Given the description of an element on the screen output the (x, y) to click on. 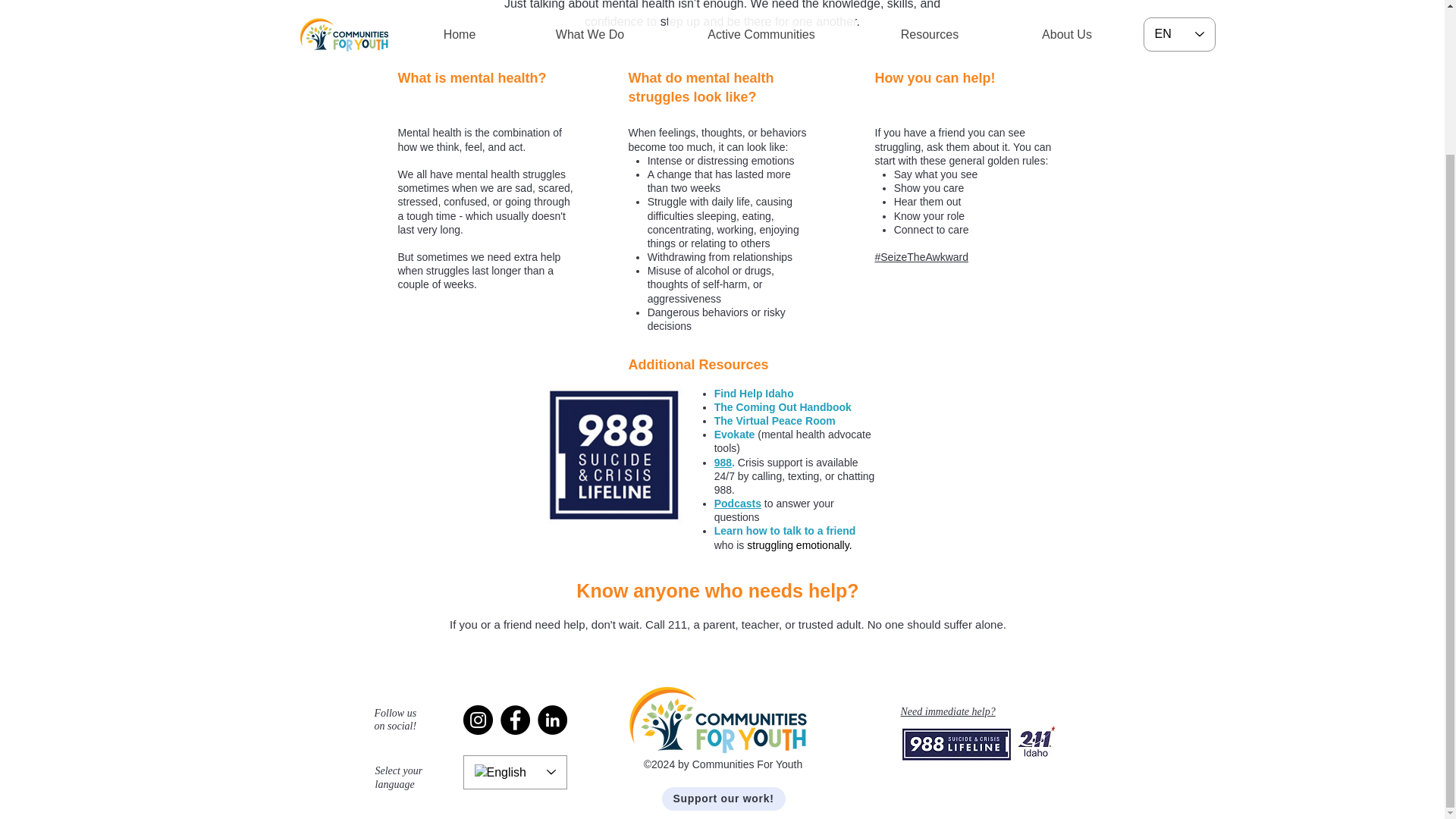
Need immediate help? (948, 711)
Learn how to talk to a friend (785, 530)
Find Help Idaho (753, 393)
The Coming Out Handbook (782, 407)
Support our work! (722, 798)
Evokate (734, 434)
The Virtual Peace Room (774, 420)
Podcasts (737, 503)
988 (723, 461)
